Given the description of an element on the screen output the (x, y) to click on. 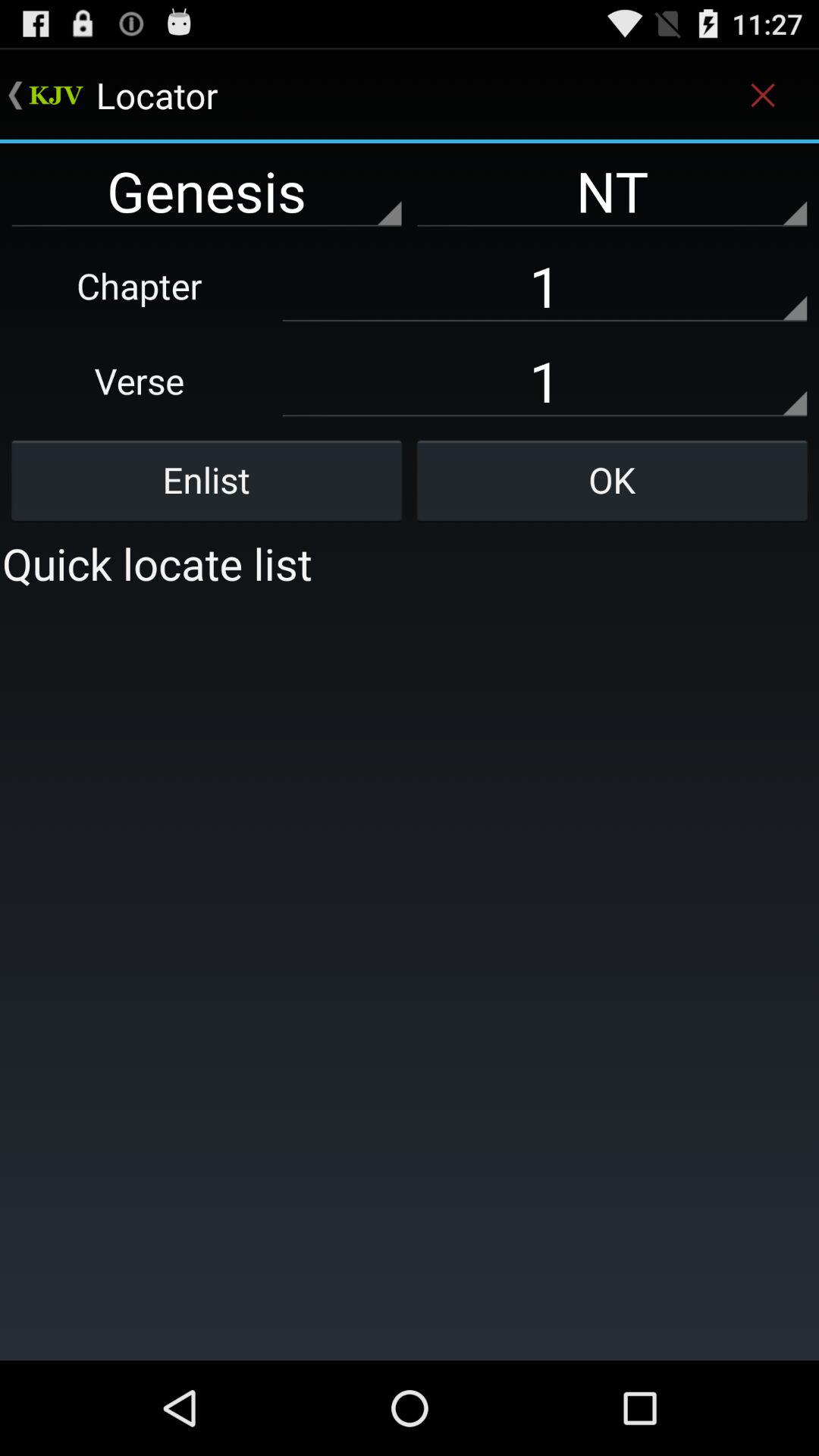
click on the last button (611, 480)
click on the genesis  left to nt (206, 190)
click on the cross button (763, 95)
click the text box beside of genesis (611, 190)
select the text field which says chapter (544, 286)
